Given the description of an element on the screen output the (x, y) to click on. 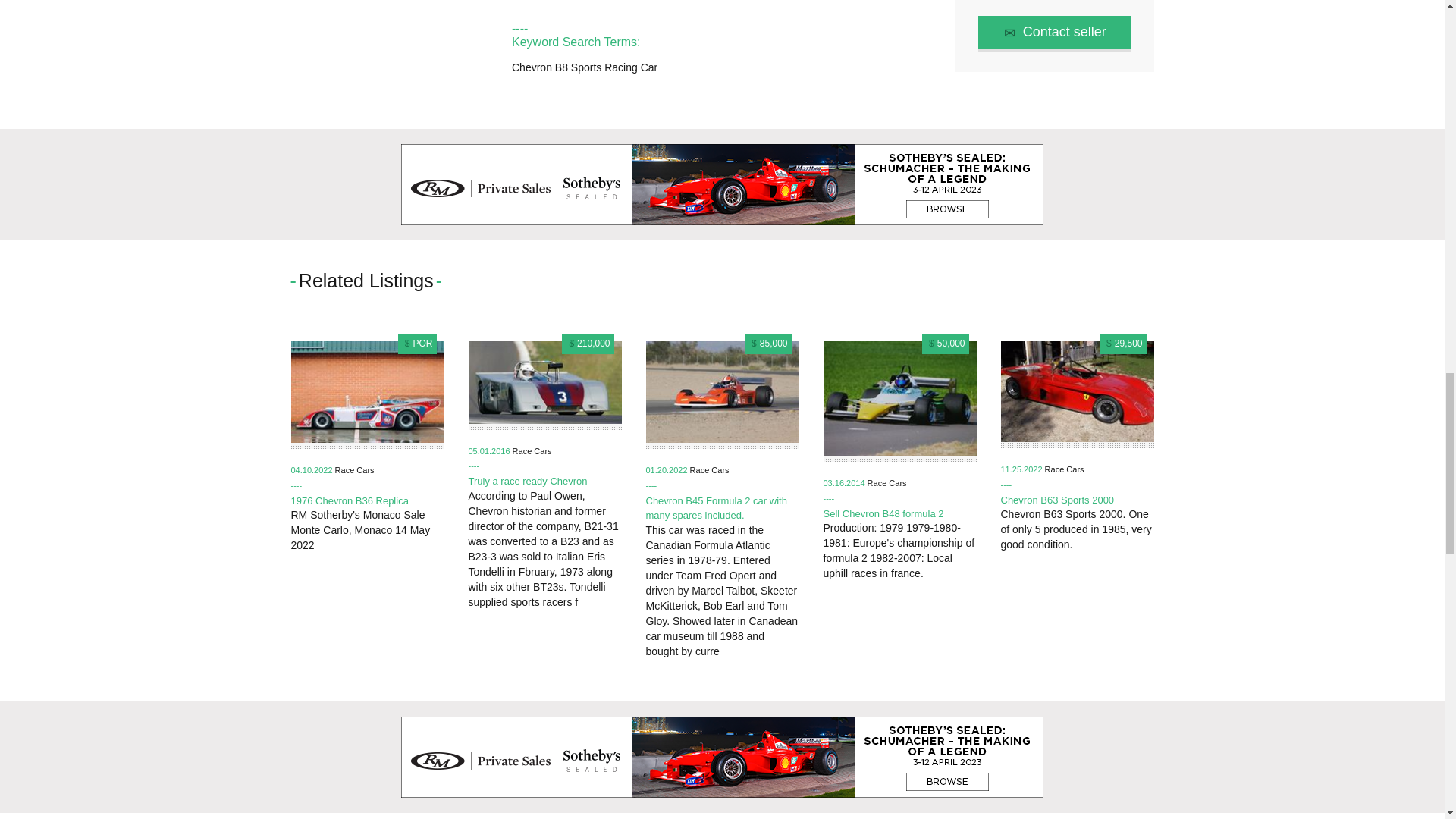
RM Sotherby's (722, 756)
RM Sotherby's (722, 184)
